Given the description of an element on the screen output the (x, y) to click on. 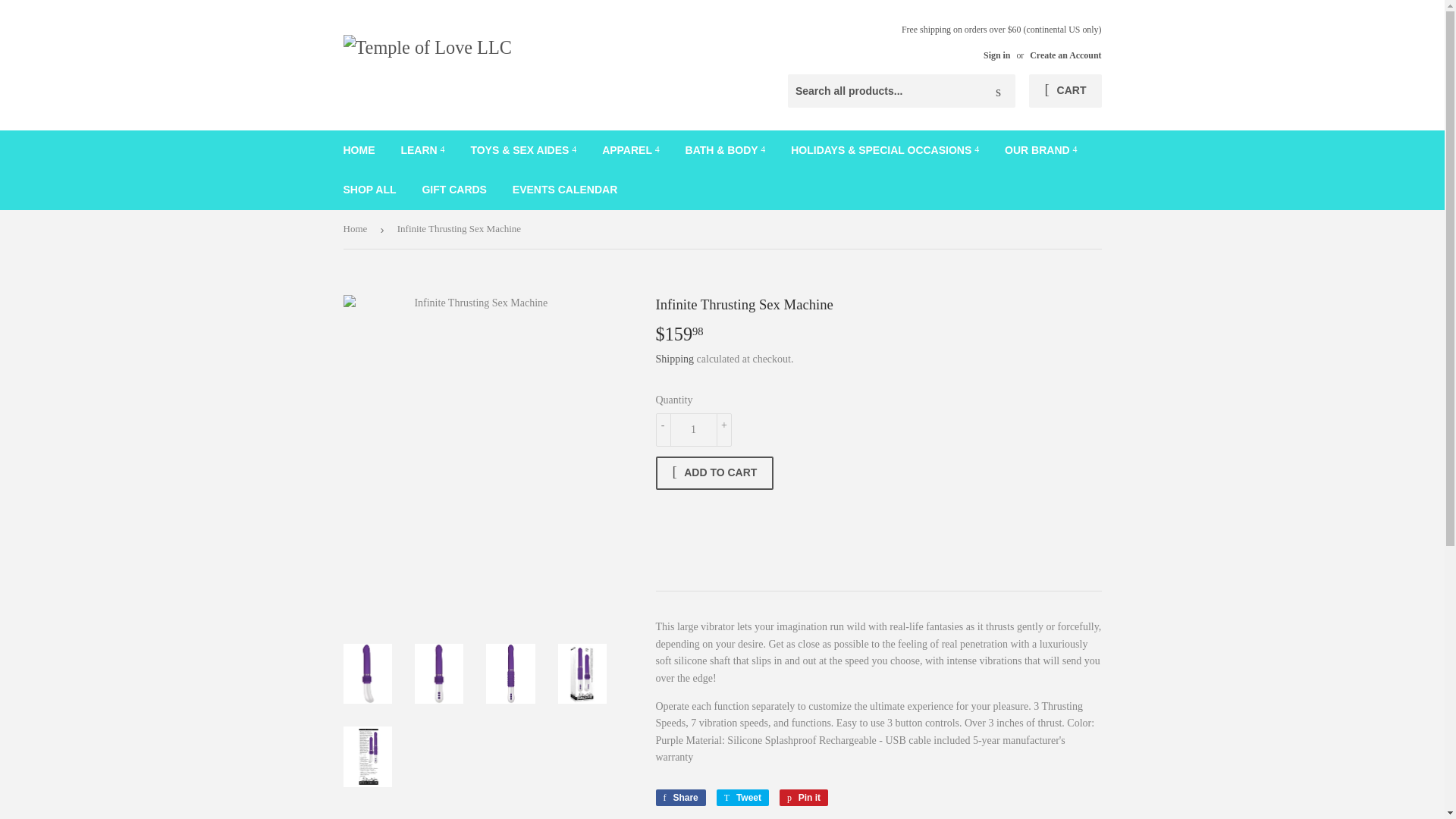
1 (692, 429)
Tweet on Twitter (742, 797)
Sign in (997, 54)
Share on Facebook (679, 797)
Create an Account (1064, 54)
Search (997, 91)
CART (1064, 90)
Pin on Pinterest (803, 797)
